Given the description of an element on the screen output the (x, y) to click on. 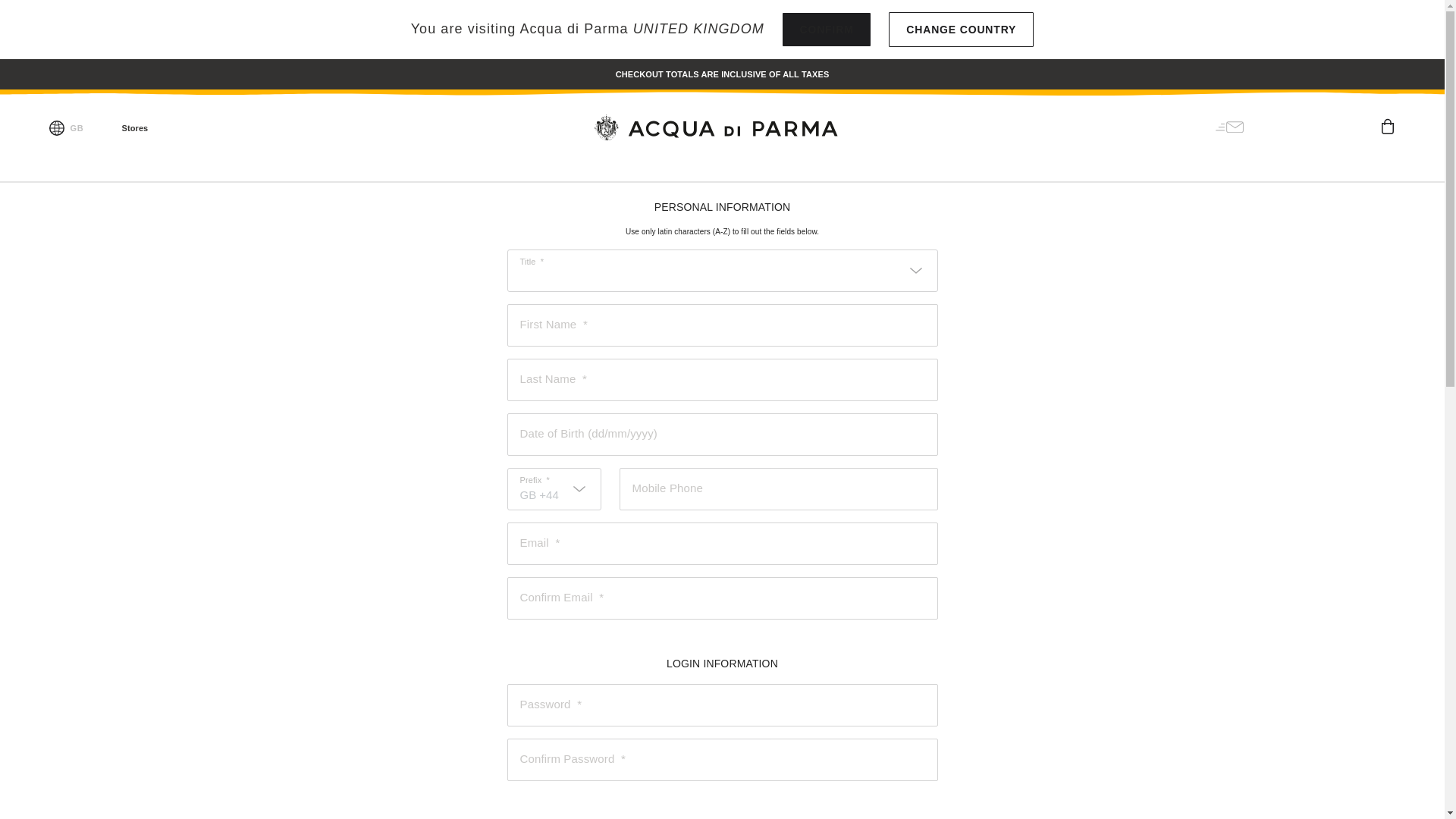
Login (1312, 125)
Stores (124, 127)
CHANGE COUNTRY (960, 29)
Acqua di Parma Home (721, 126)
GB (76, 128)
Store locator (124, 127)
Acqua di Parma (721, 127)
CONFIRM (826, 29)
Contact us (174, 127)
Wishlist (1349, 126)
Go to shopping cart (1387, 124)
